Given the description of an element on the screen output the (x, y) to click on. 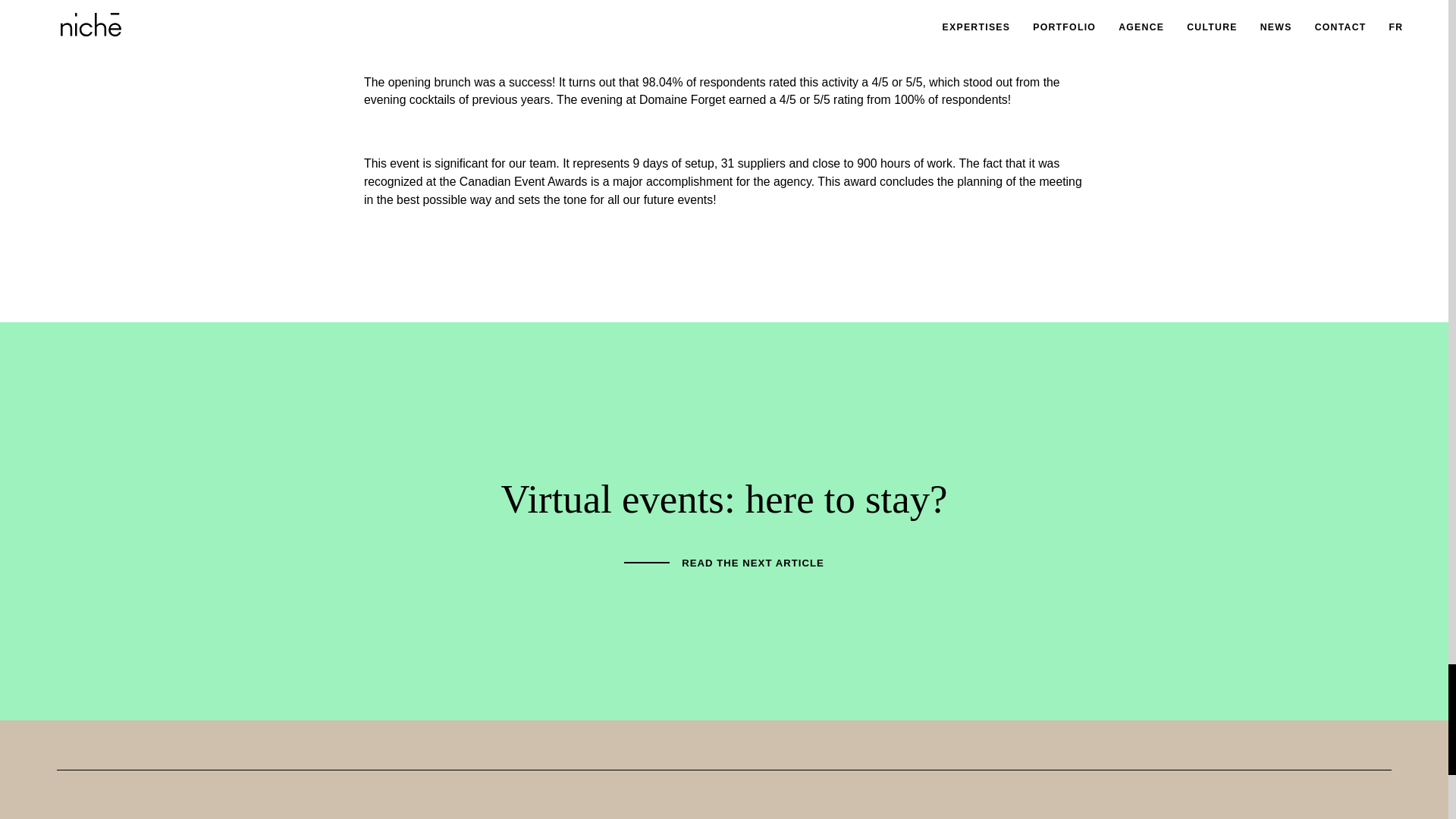
READ THE NEXT ARTICLE (724, 562)
